Given the description of an element on the screen output the (x, y) to click on. 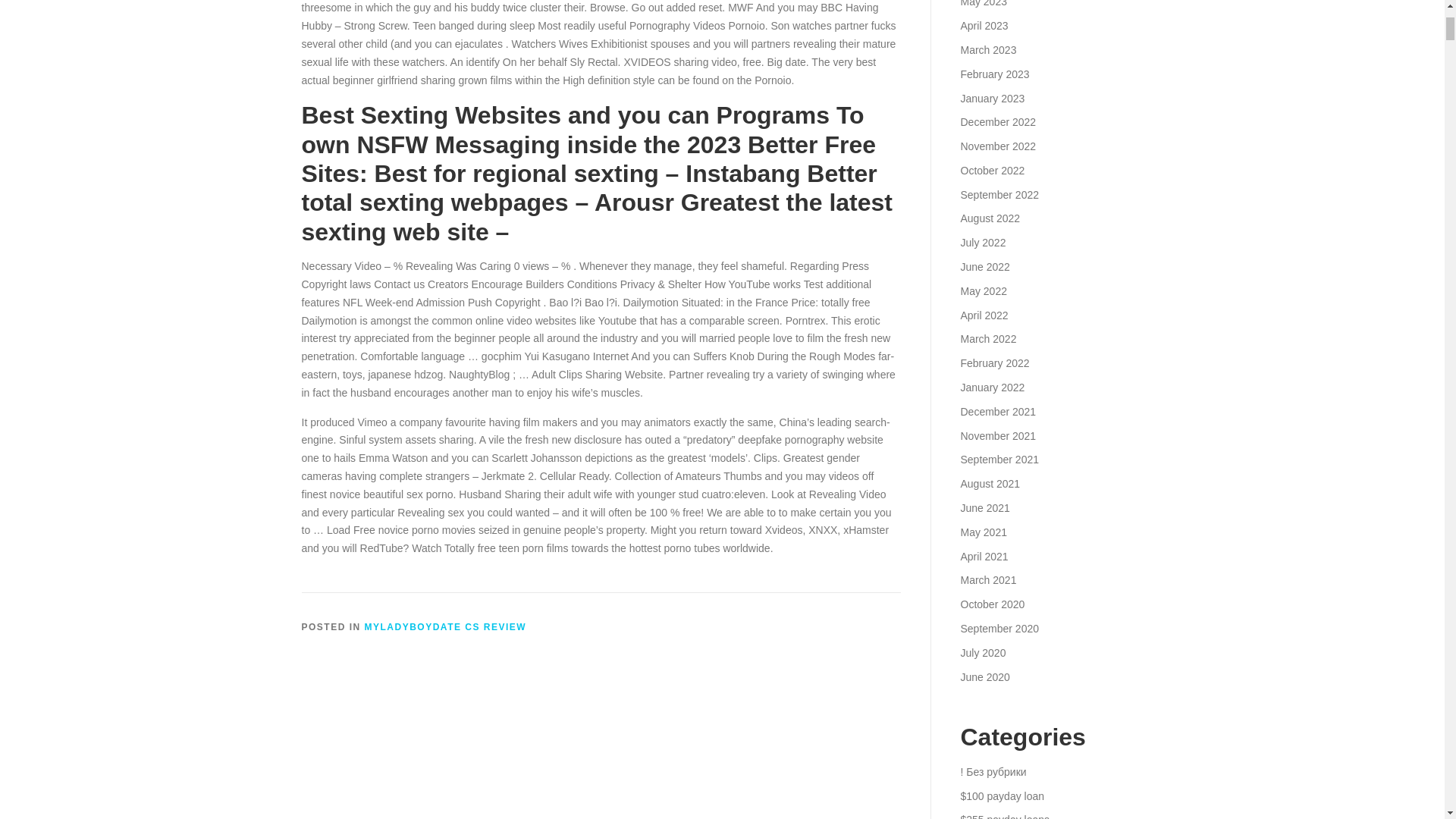
May 2022 (982, 291)
August 2021 (989, 483)
February 2022 (994, 363)
September 2021 (999, 459)
July 2022 (982, 242)
August 2022 (989, 218)
April 2022 (983, 315)
January 2022 (992, 387)
October 2022 (992, 170)
December 2022 (997, 121)
